Given the description of an element on the screen output the (x, y) to click on. 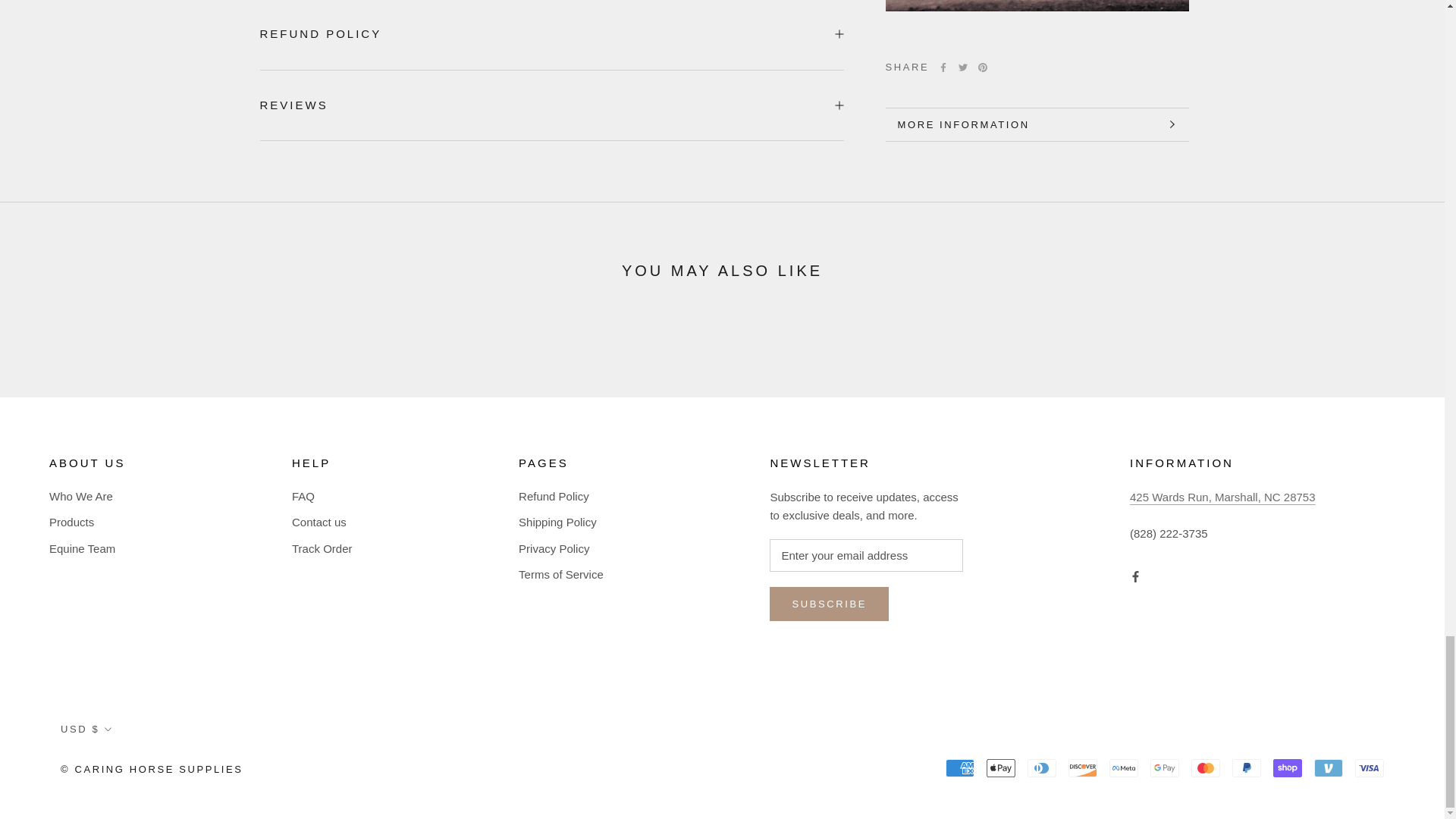
Google Pay (1164, 768)
Discover (1082, 768)
Meta Pay (1123, 768)
American Express (959, 768)
Apple Pay (1000, 768)
Shop Pay (1286, 768)
Diners Club (1042, 768)
Mastercard (1205, 768)
PayPal (1245, 768)
Venmo (1328, 768)
